Given the description of an element on the screen output the (x, y) to click on. 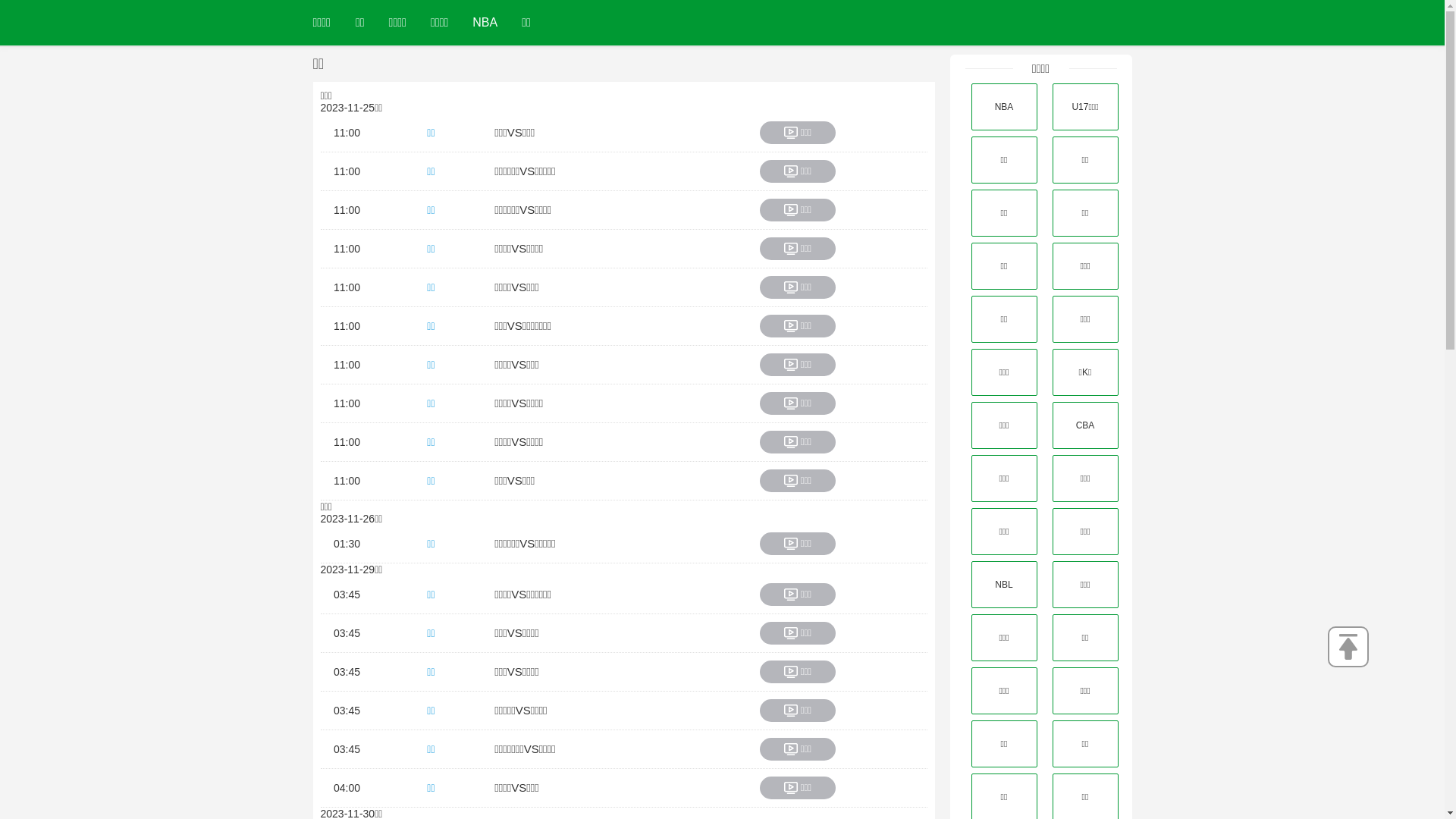
03:45 Element type: text (346, 710)
11:00 Element type: text (346, 287)
11:00 Element type: text (346, 442)
03:45 Element type: text (346, 749)
CBA Element type: text (1085, 424)
03:45 Element type: text (346, 633)
NBA Element type: text (484, 22)
11:00 Element type: text (346, 171)
11:00 Element type: text (346, 326)
01:30 Element type: text (346, 543)
03:45 Element type: text (346, 671)
04:00 Element type: text (346, 787)
11:00 Element type: text (346, 364)
11:00 Element type: text (346, 248)
11:00 Element type: text (346, 480)
11:00 Element type: text (346, 132)
03:45 Element type: text (346, 594)
11:00 Element type: text (346, 209)
NBA Element type: text (1003, 106)
11:00 Element type: text (346, 403)
NBL Element type: text (1003, 584)
